Given the description of an element on the screen output the (x, y) to click on. 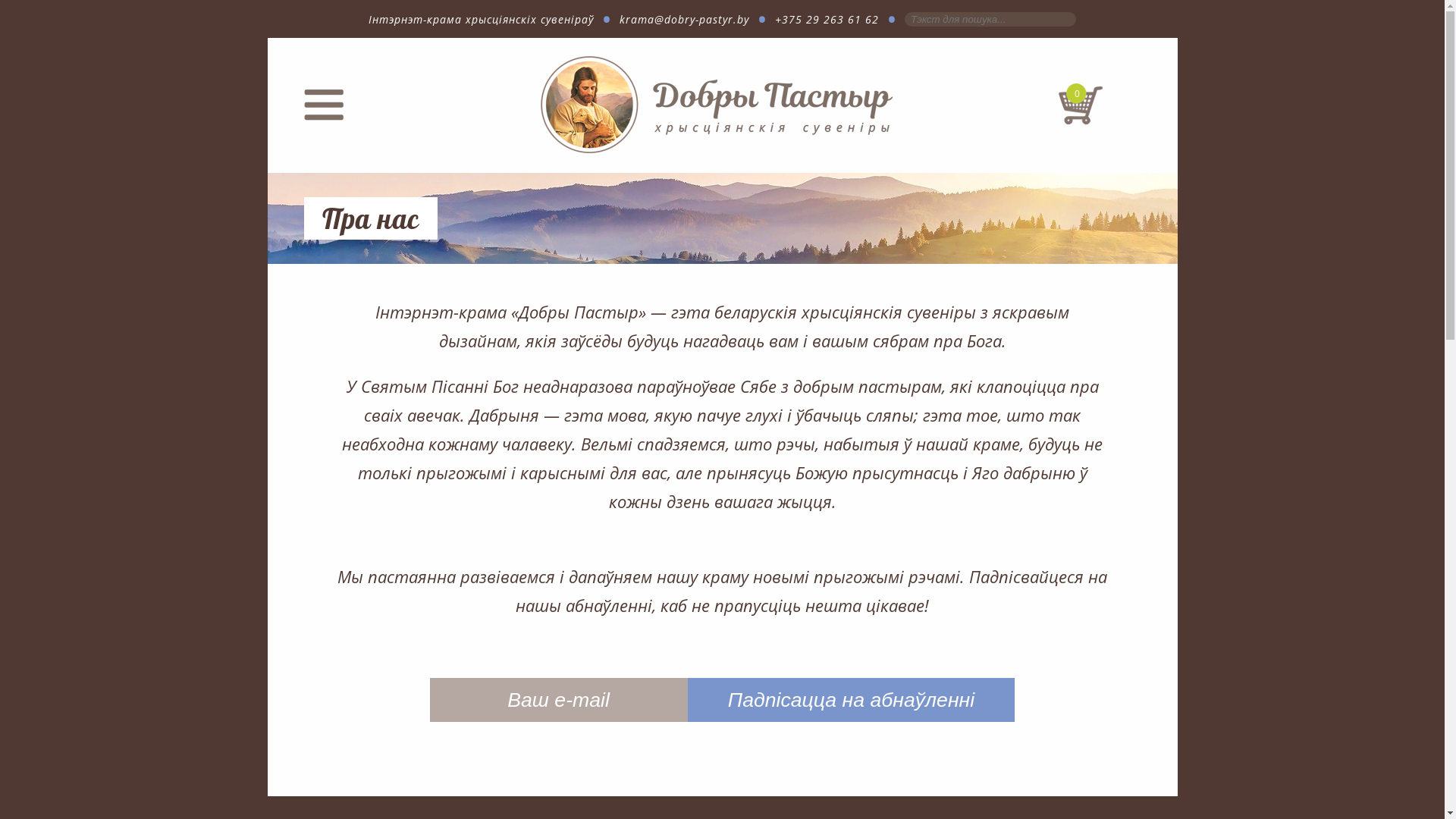
+375 29 263 61 62 Element type: text (826, 19)
krama@dobry-pastyr.by Element type: text (684, 19)
0 Element type: text (1080, 121)
